Given the description of an element on the screen output the (x, y) to click on. 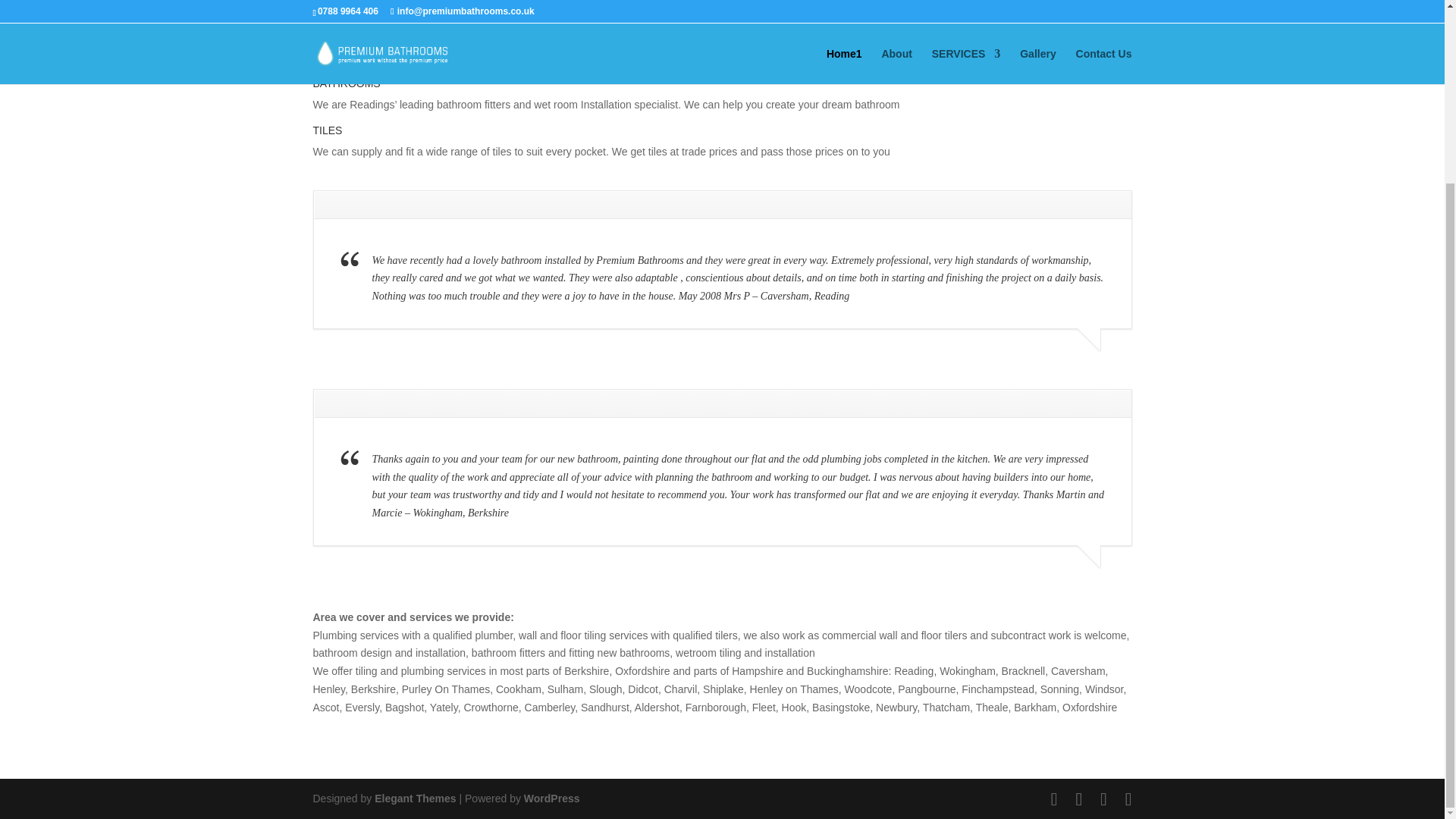
Elegant Themes (414, 798)
Premium WordPress Themes (414, 798)
WordPress (551, 798)
